Given the description of an element on the screen output the (x, y) to click on. 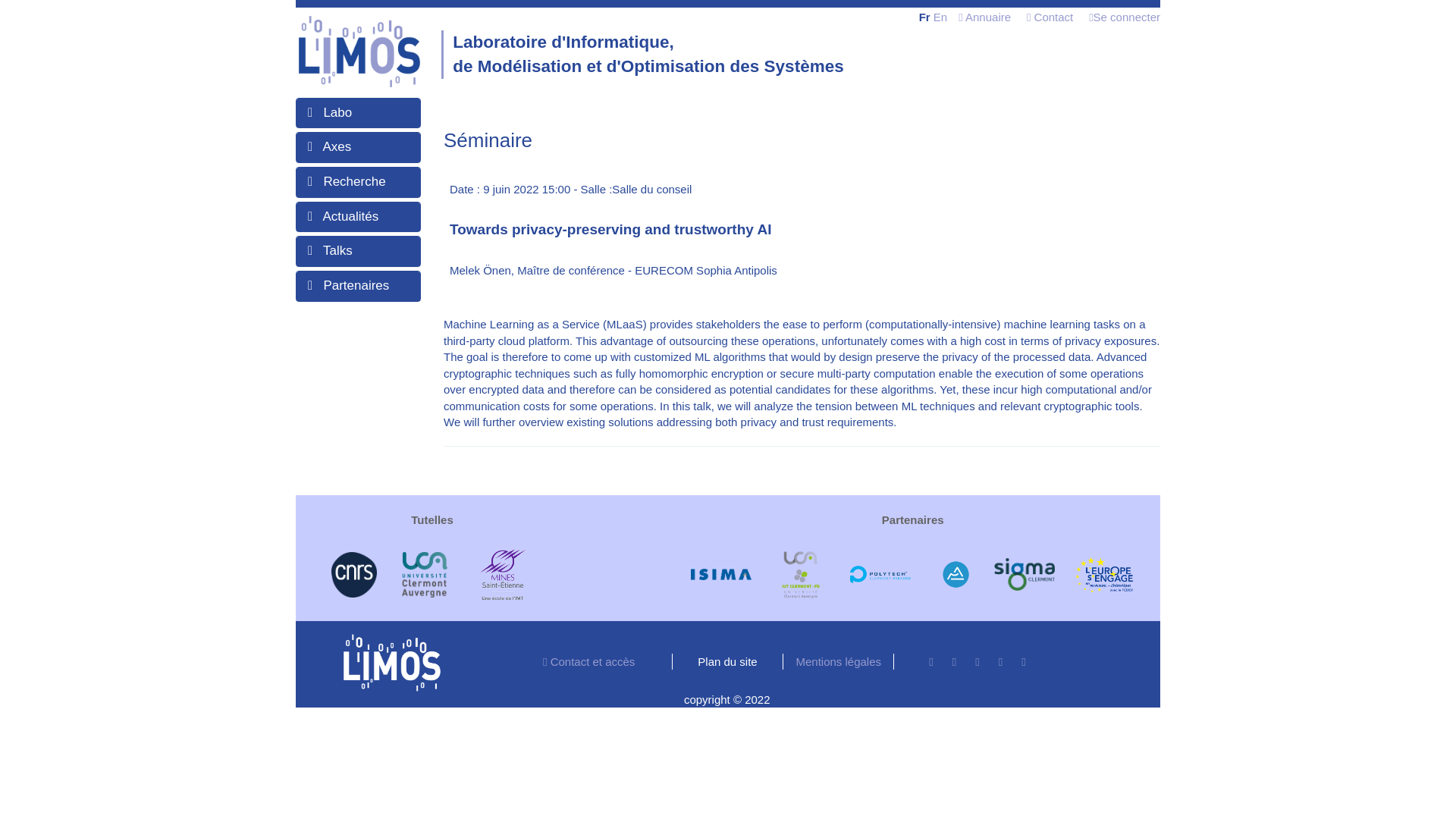
Contact (1049, 16)
Recherche (354, 181)
Annuaire (984, 16)
Talks (337, 250)
Se connecter (1124, 16)
Partenaires (355, 285)
En (940, 16)
Axes (335, 146)
Labo (337, 112)
